Given the description of an element on the screen output the (x, y) to click on. 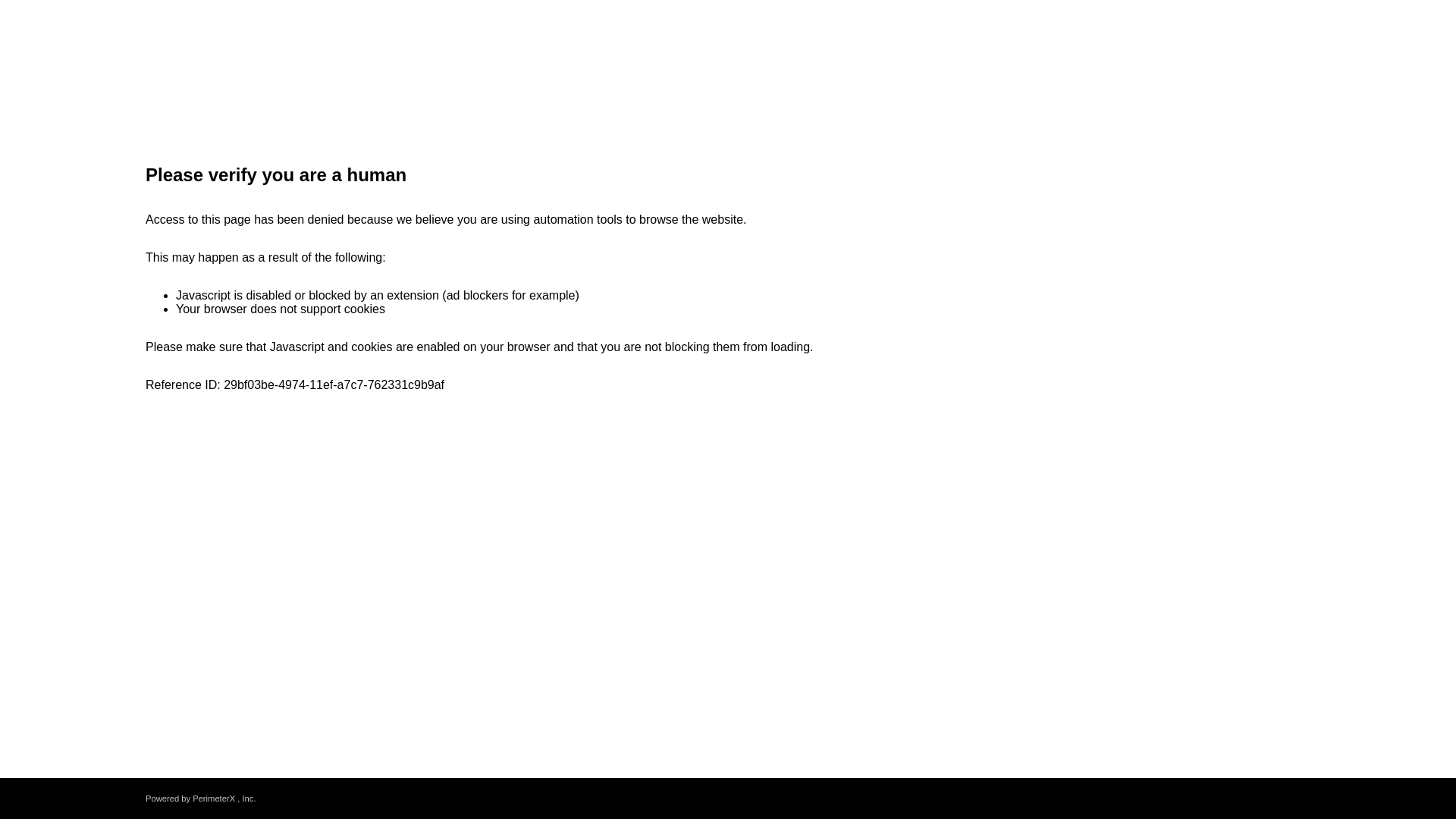
PerimeterX (213, 798)
